Given the description of an element on the screen output the (x, y) to click on. 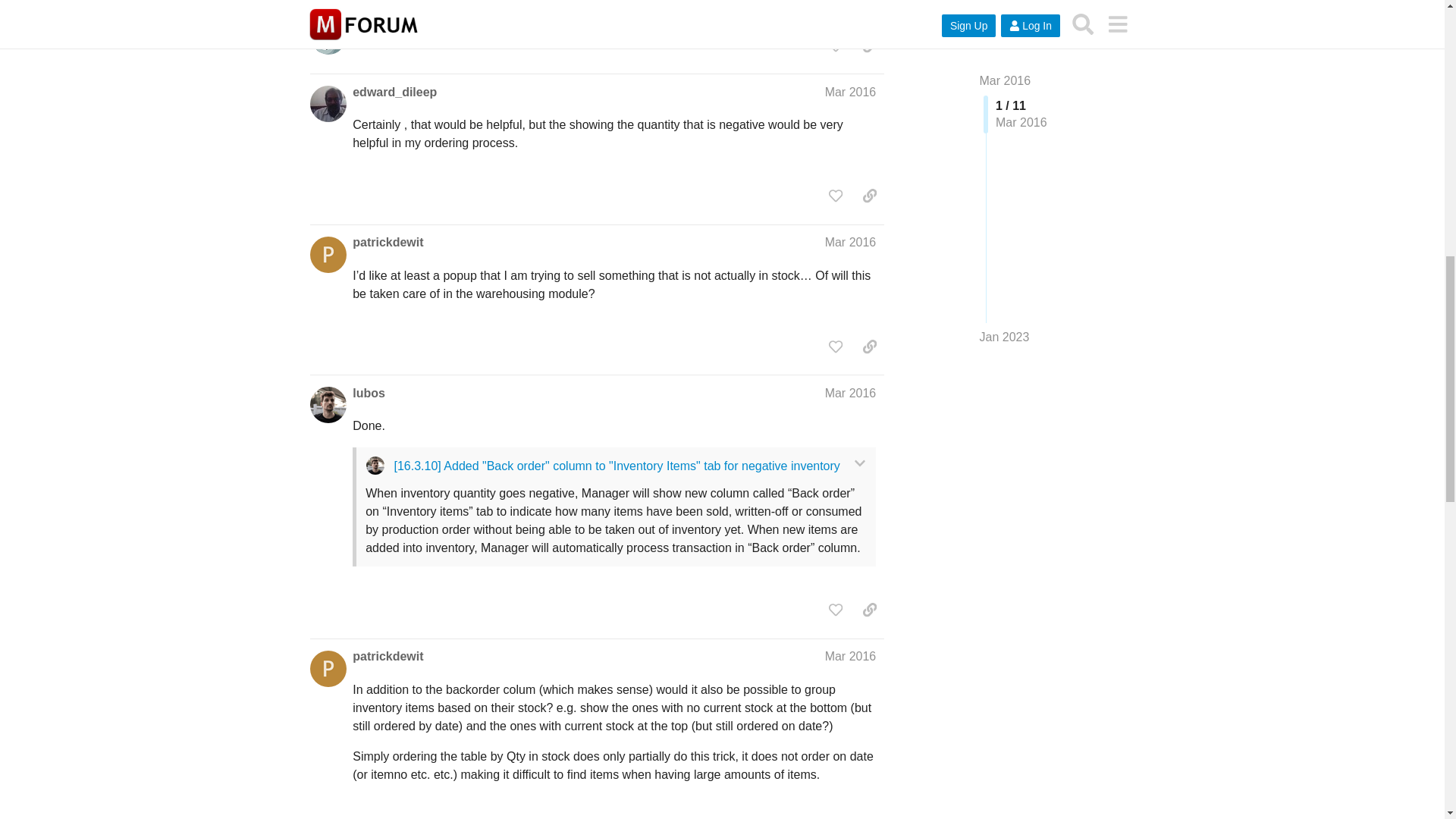
Mar 2016 (850, 91)
